Given the description of an element on the screen output the (x, y) to click on. 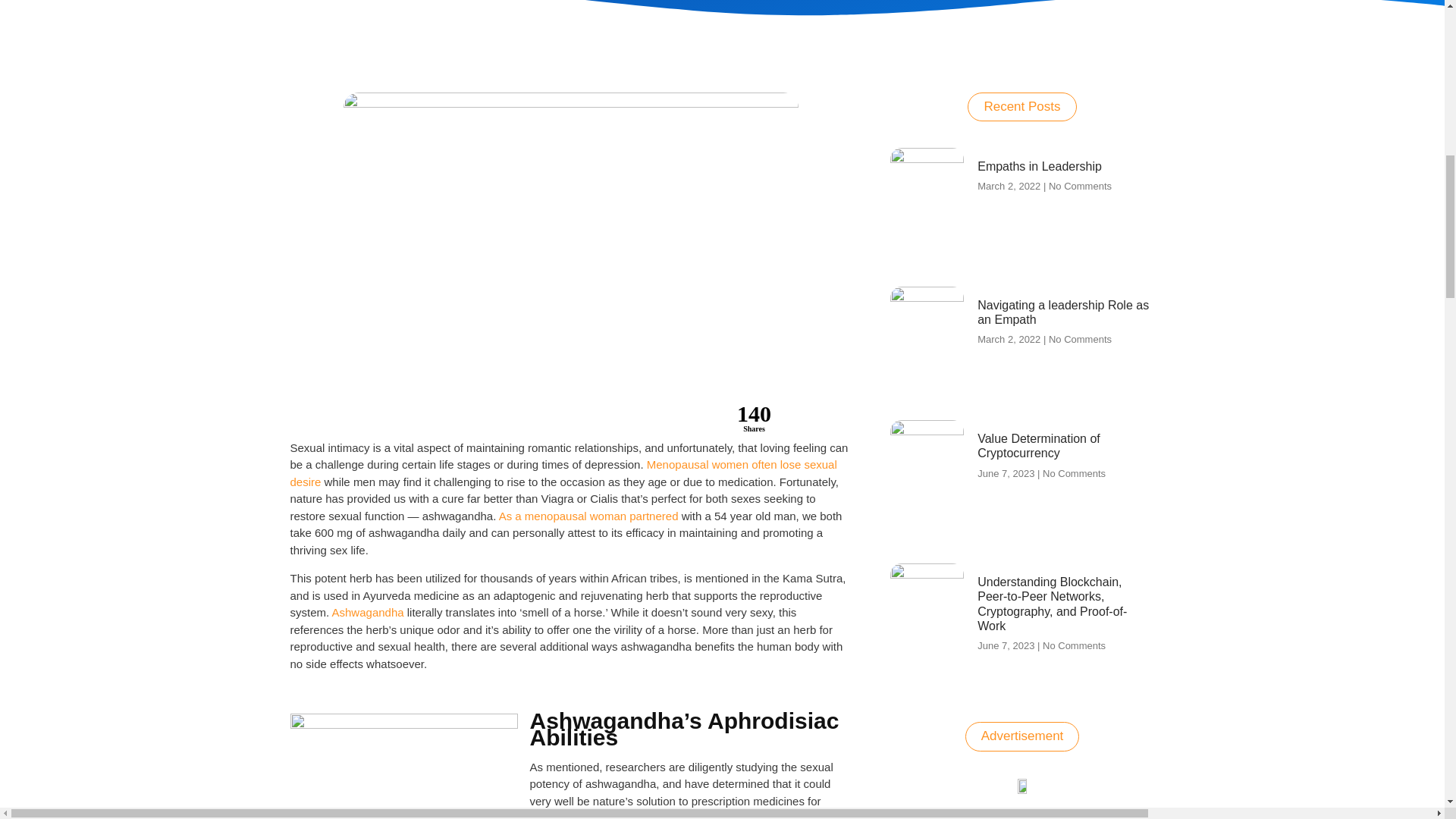
Ashwagandha (367, 612)
As a menopausal woman partnered (588, 515)
Menopausal women often lose sexual desire (562, 472)
